Given the description of an element on the screen output the (x, y) to click on. 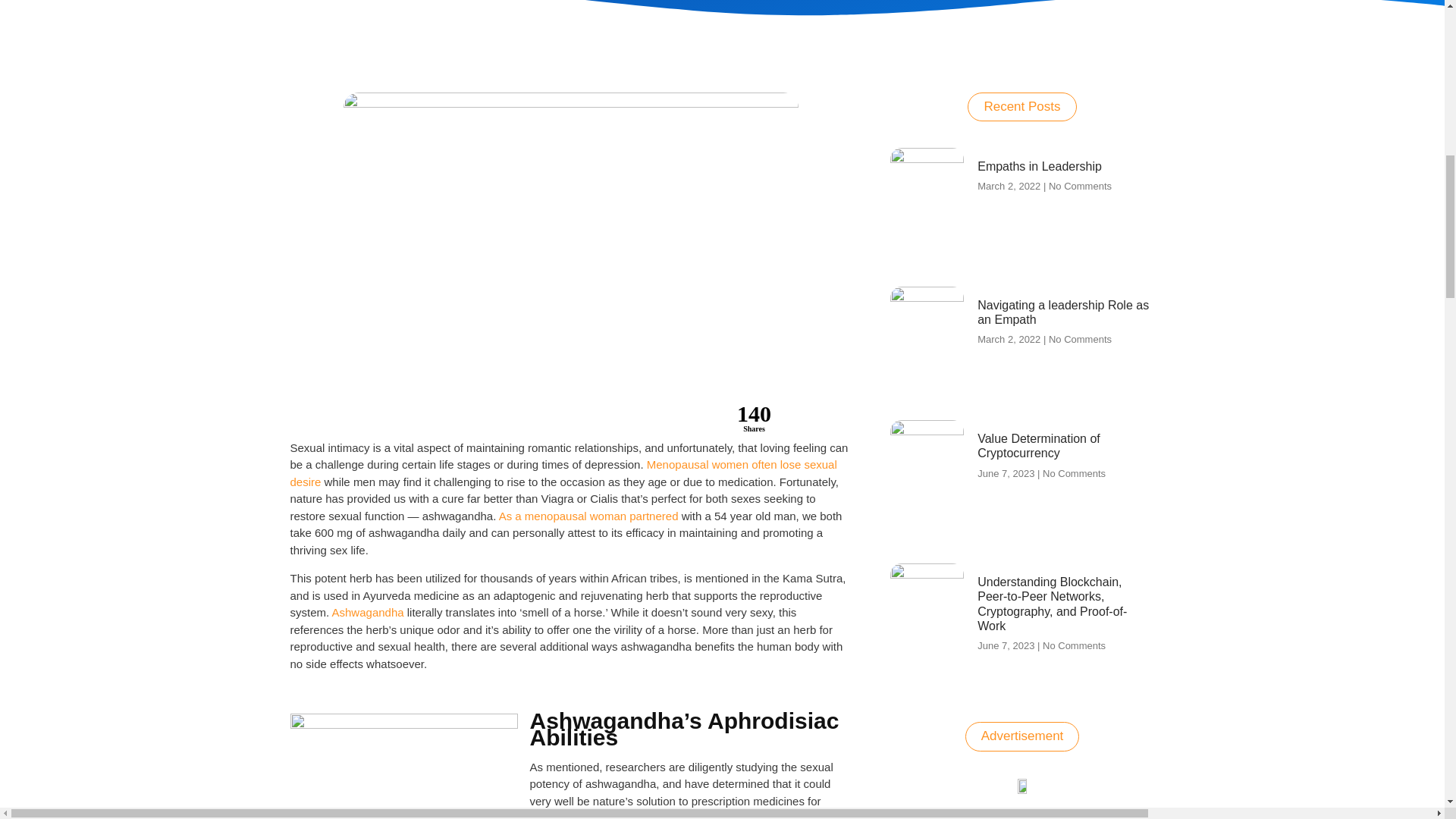
Ashwagandha (367, 612)
As a menopausal woman partnered (588, 515)
Menopausal women often lose sexual desire (562, 472)
